Given the description of an element on the screen output the (x, y) to click on. 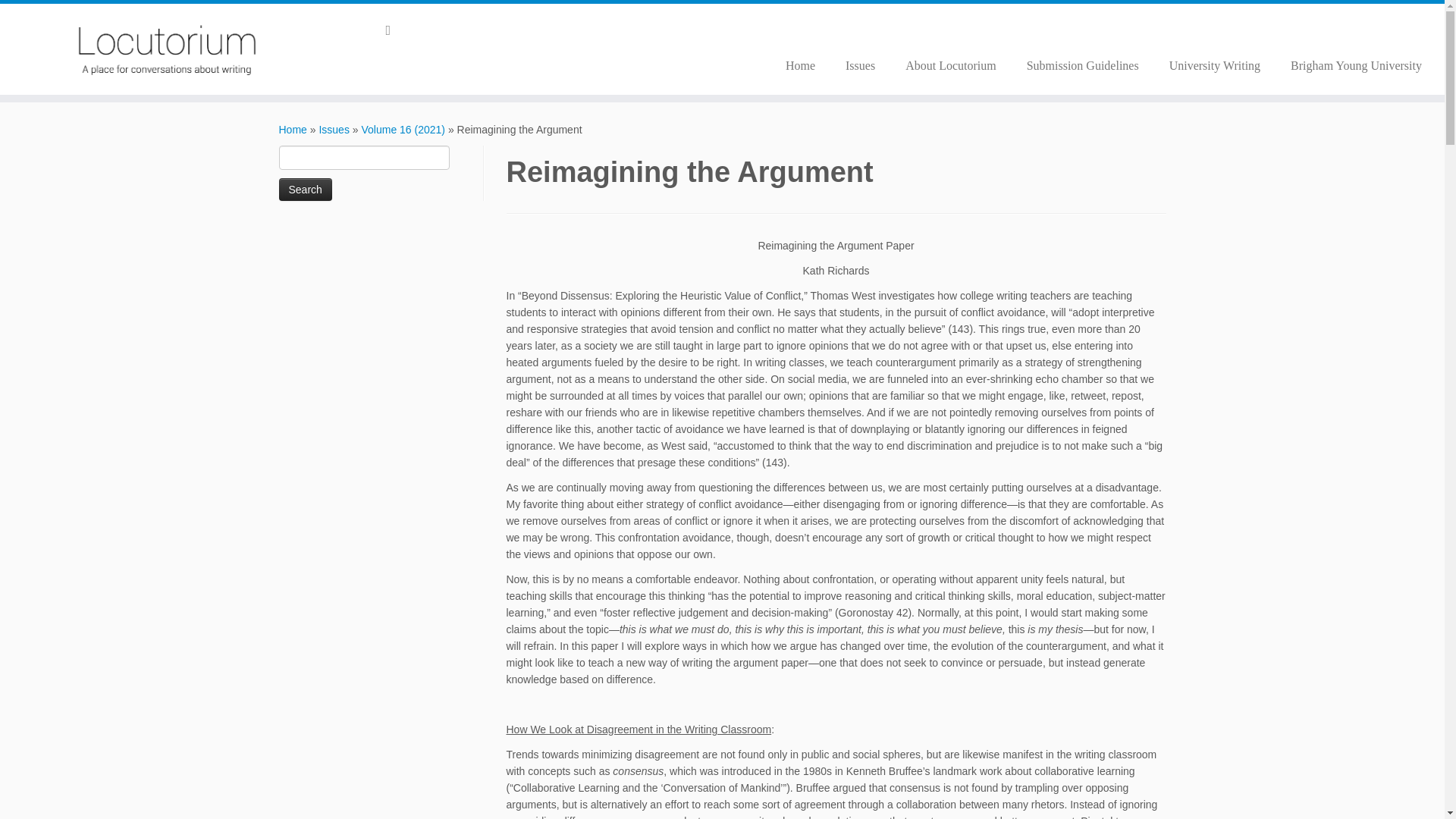
Issues (859, 65)
Home (293, 129)
University Writing (1214, 65)
Brigham Young University (1348, 65)
Submission Guidelines (1082, 65)
Issues (333, 129)
Search (305, 189)
About Locutorium (950, 65)
Home (799, 65)
Subscribe to my rss feed (392, 29)
Locutorium (293, 129)
Search (305, 189)
Issues (333, 129)
